Given the description of an element on the screen output the (x, y) to click on. 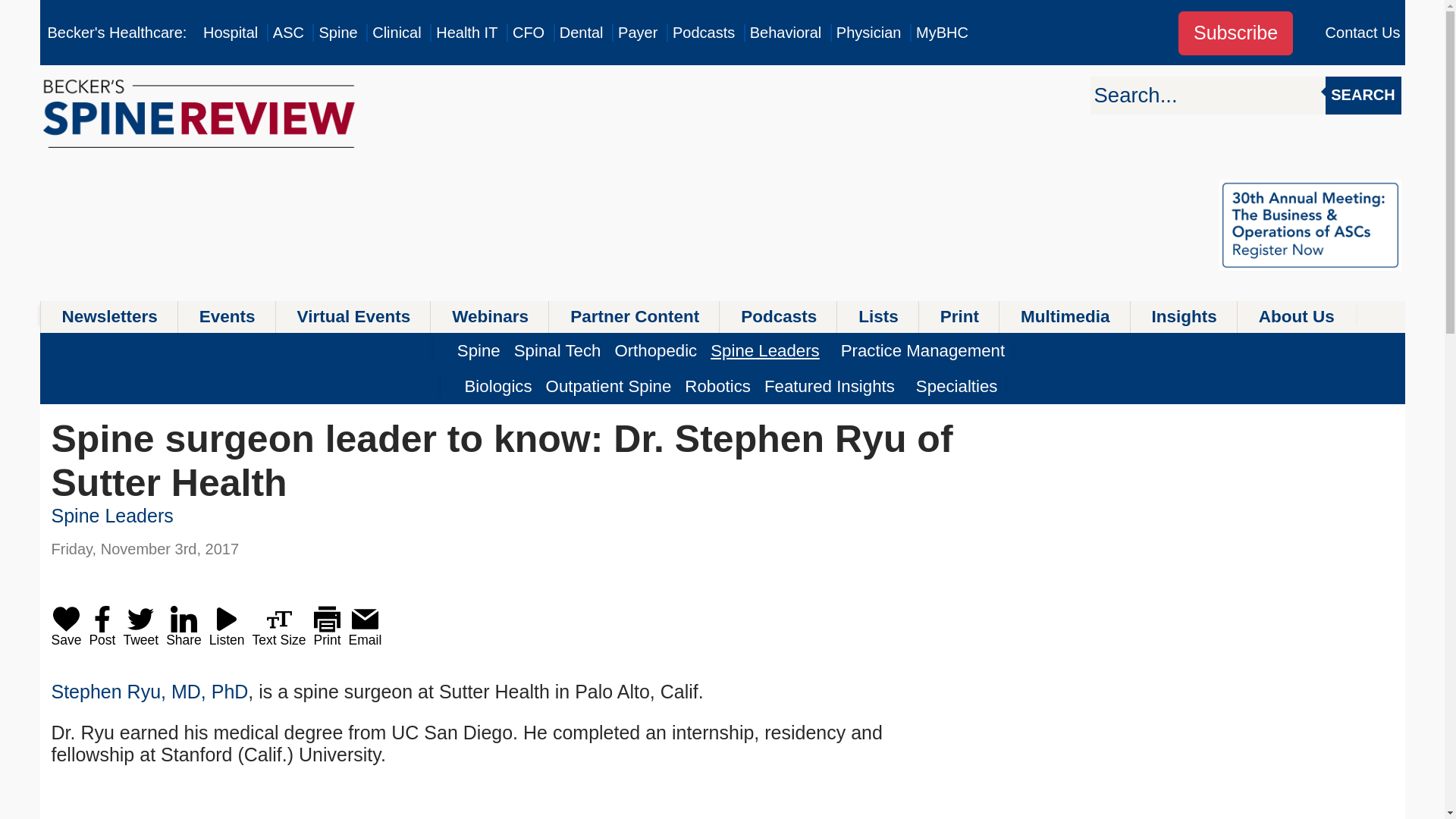
MyBHC (941, 32)
Contact Us (1362, 32)
MyBHC (941, 32)
Subscribe (1234, 33)
Becker's ASC Review (288, 32)
Payer (637, 32)
Hospital (230, 32)
Becker's Health IT (466, 32)
Physician (868, 32)
CFO (528, 32)
